Given the description of an element on the screen output the (x, y) to click on. 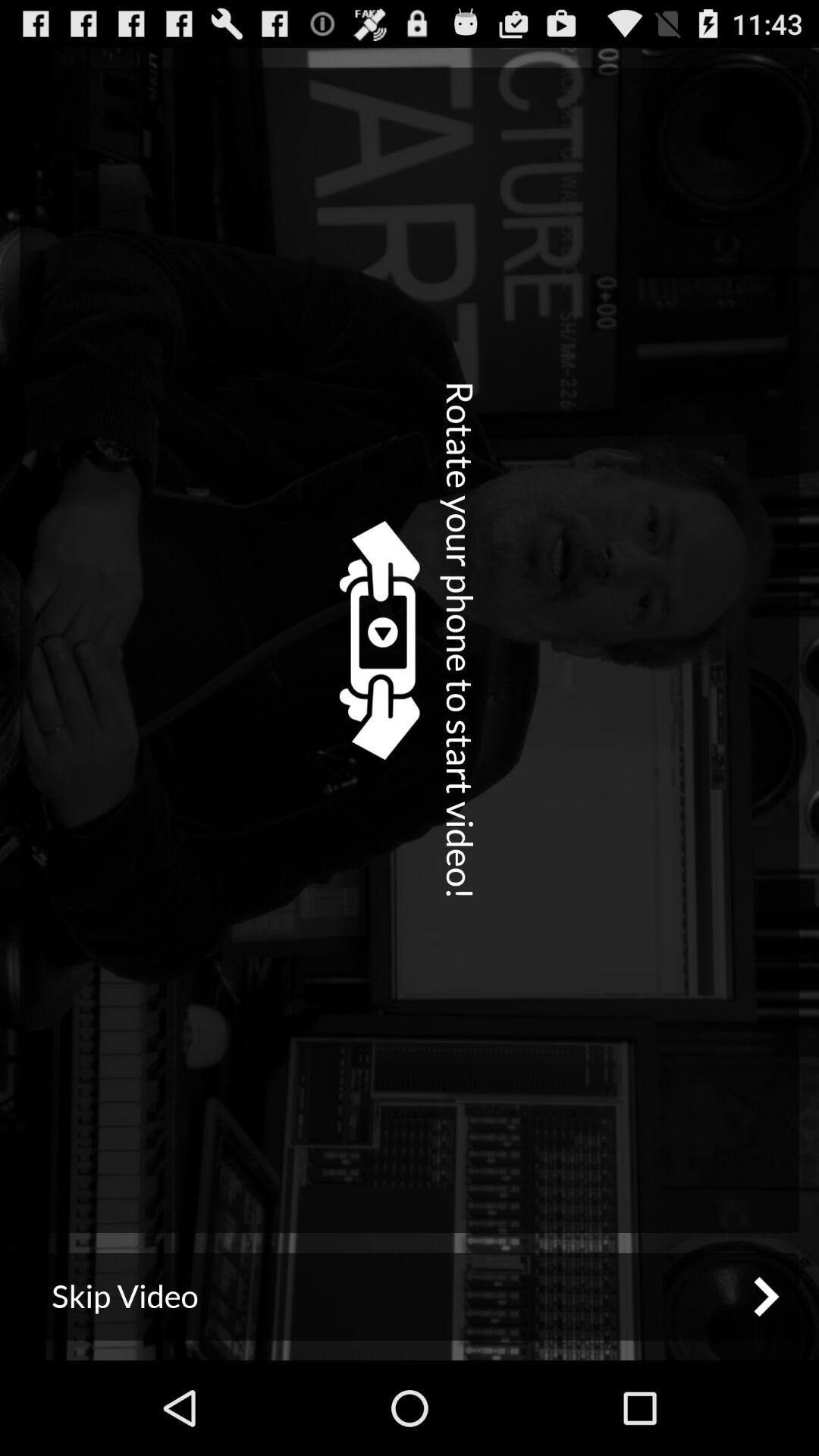
click skip video icon (409, 1296)
